Given the description of an element on the screen output the (x, y) to click on. 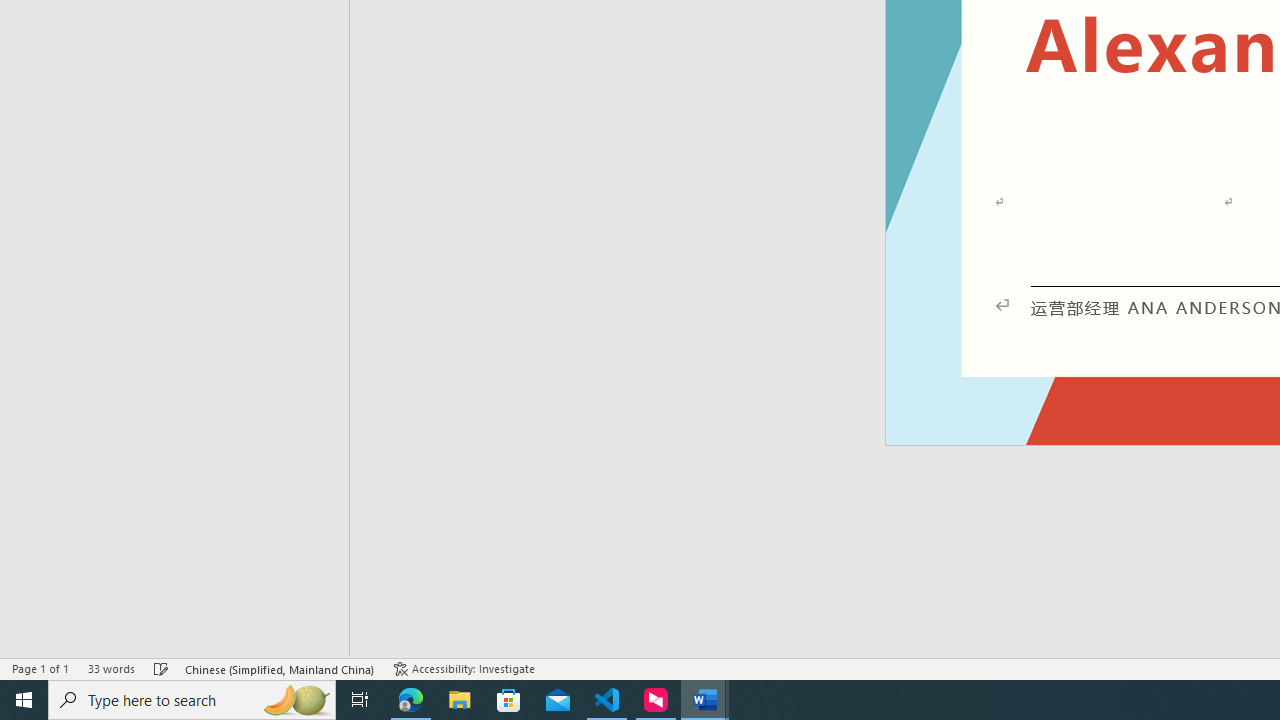
Accessibility Checker Accessibility: Investigate (464, 668)
Language Chinese (Simplified, Mainland China) (279, 668)
Page Number Page 1 of 1 (39, 668)
Spelling and Grammar Check Checking (161, 668)
